Given the description of an element on the screen output the (x, y) to click on. 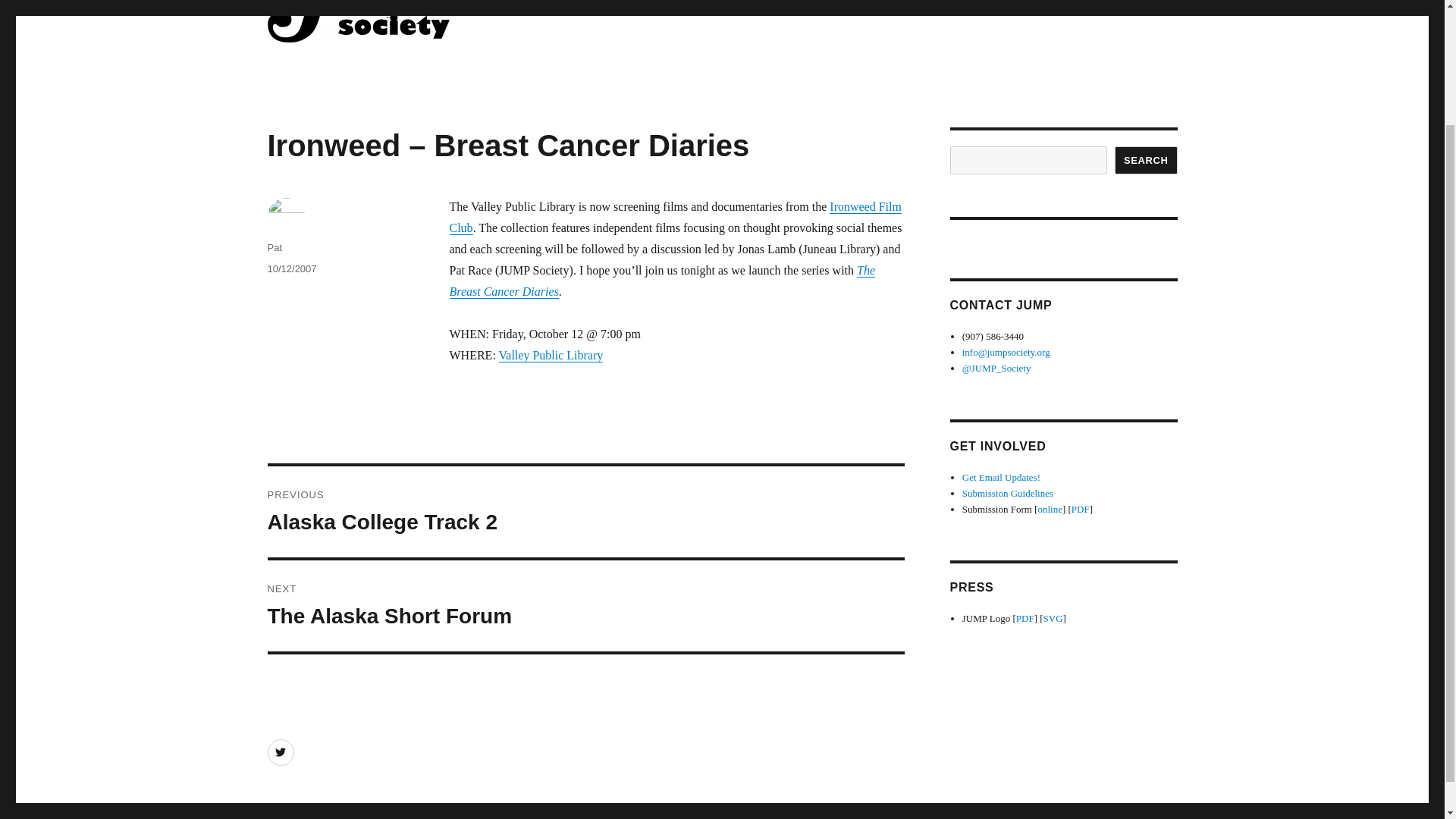
JUMP Society (336, 65)
SVG (1052, 618)
Twitter (280, 752)
PDF (1080, 509)
The Breast Cancer Diaries (661, 280)
PDF (1024, 618)
Home (1054, 8)
Ironweed Film Club (674, 216)
Film Festival (1134, 8)
Pat (274, 247)
online (1049, 509)
Get Email Updates! (585, 511)
SEARCH (585, 605)
